Given the description of an element on the screen output the (x, y) to click on. 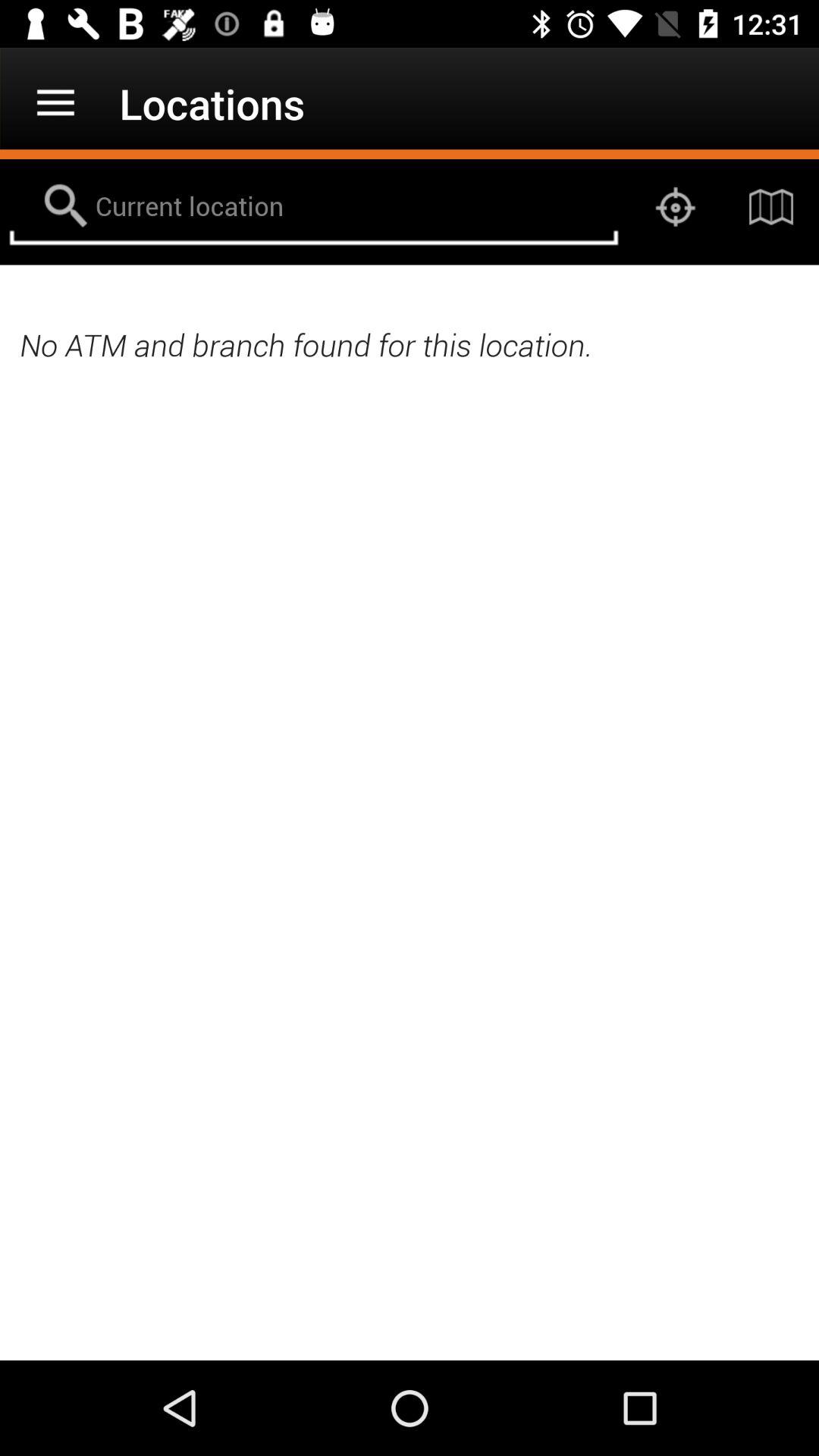
turn off the item next to the locations app (55, 103)
